Given the description of an element on the screen output the (x, y) to click on. 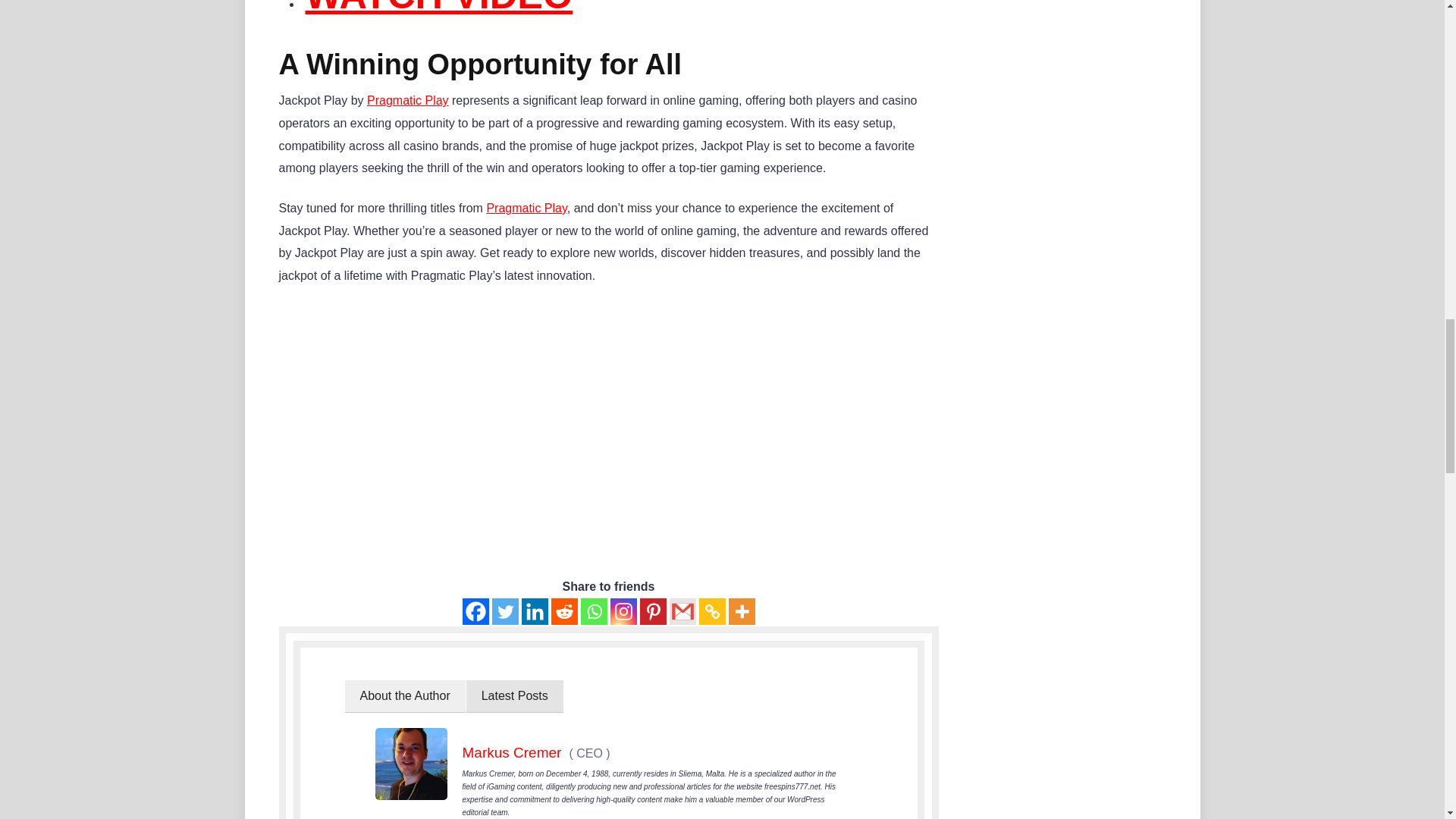
Copy Link (711, 611)
Reddit (563, 611)
Linkedin (534, 611)
Facebook (476, 611)
Whatsapp (593, 611)
Twitter (505, 611)
Pinterest (653, 611)
More (741, 611)
Google Gmail (681, 611)
Instagram (623, 611)
